Given the description of an element on the screen output the (x, y) to click on. 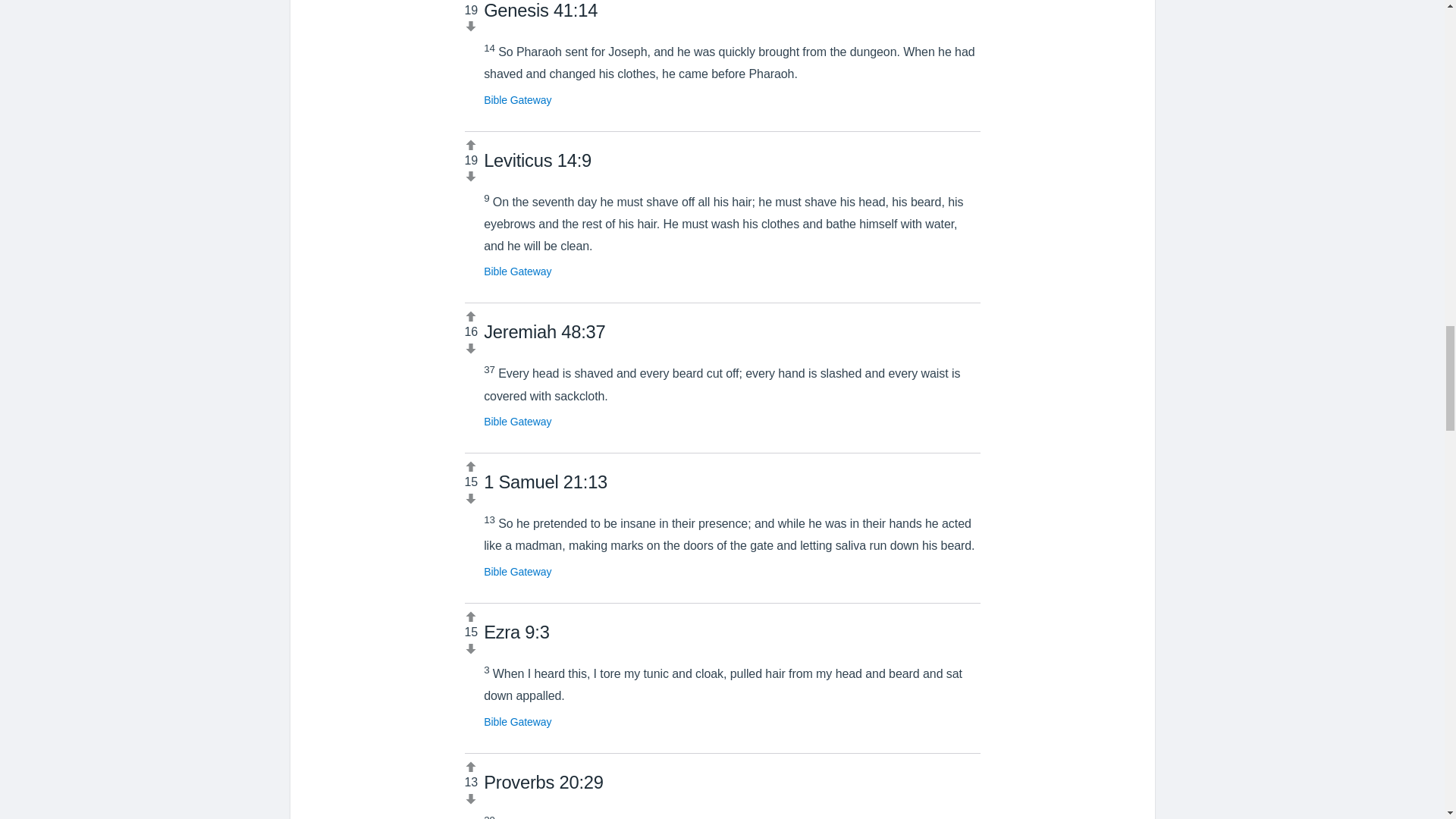
Bible Gateway (517, 100)
Bible Gateway (517, 271)
Bible Gateway (517, 421)
Bible Gateway (517, 571)
Bible Gateway (517, 721)
